Given the description of an element on the screen output the (x, y) to click on. 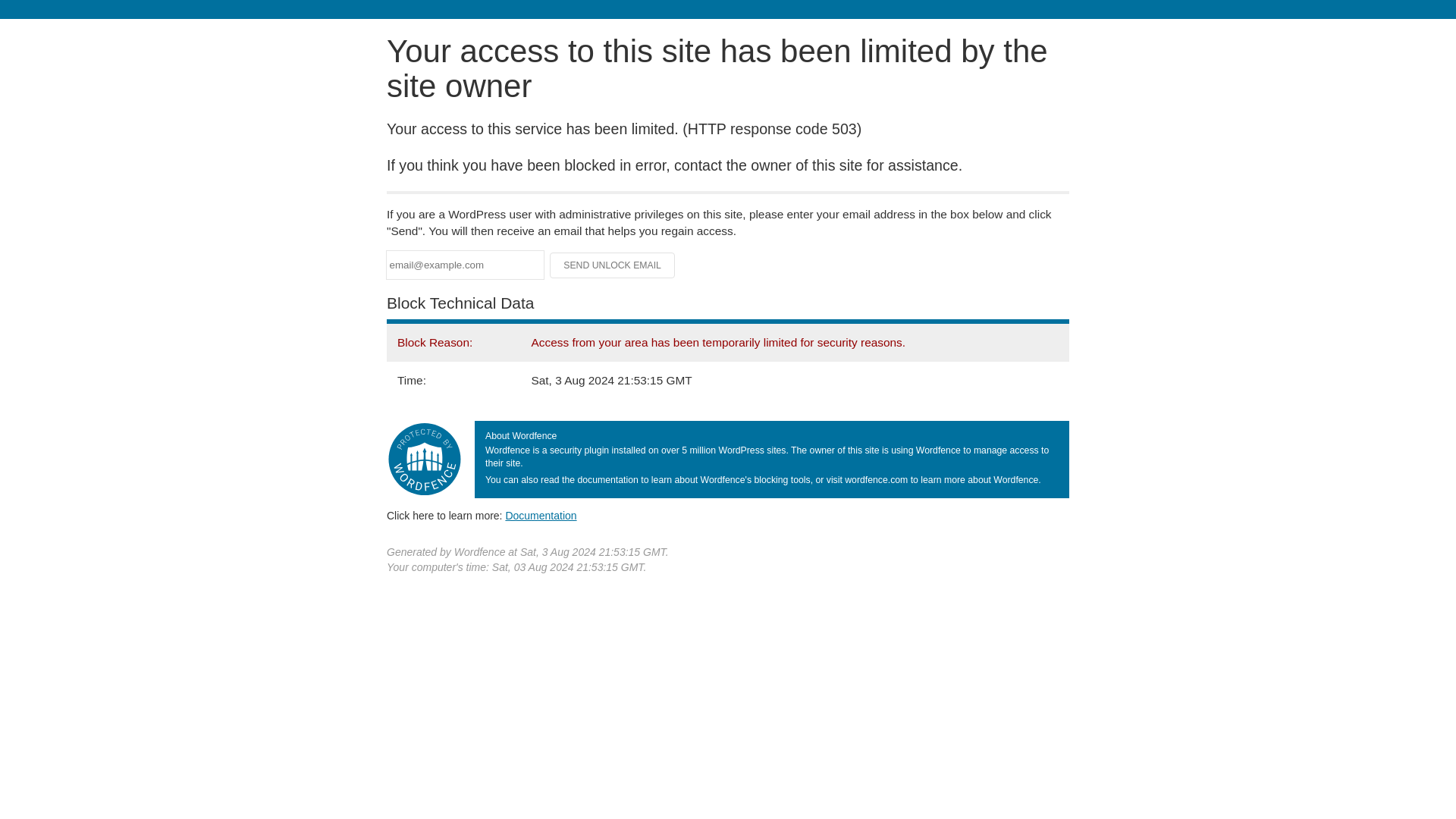
Send Unlock Email (612, 265)
Documentation (540, 515)
Send Unlock Email (612, 265)
